Given the description of an element on the screen output the (x, y) to click on. 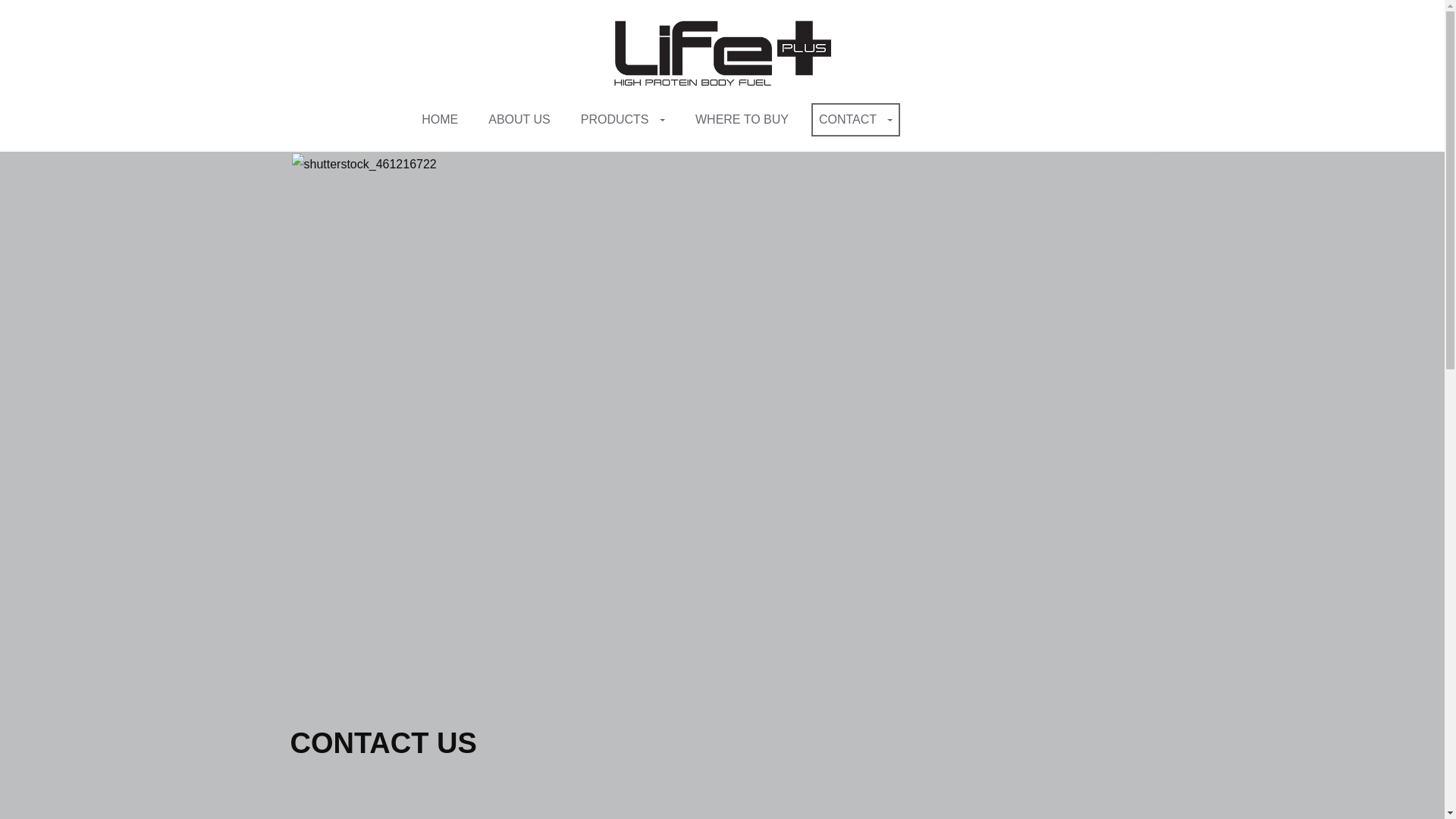
PRODUCTS Element type: text (622, 119)
CONTACT Element type: text (855, 119)
WHERE TO BUY Element type: text (741, 119)
Life Plus Element type: hover (721, 51)
shutterstock_461216722 Element type: hover (721, 439)
ABOUT US Element type: text (519, 119)
HOME Element type: text (439, 119)
